Given the description of an element on the screen output the (x, y) to click on. 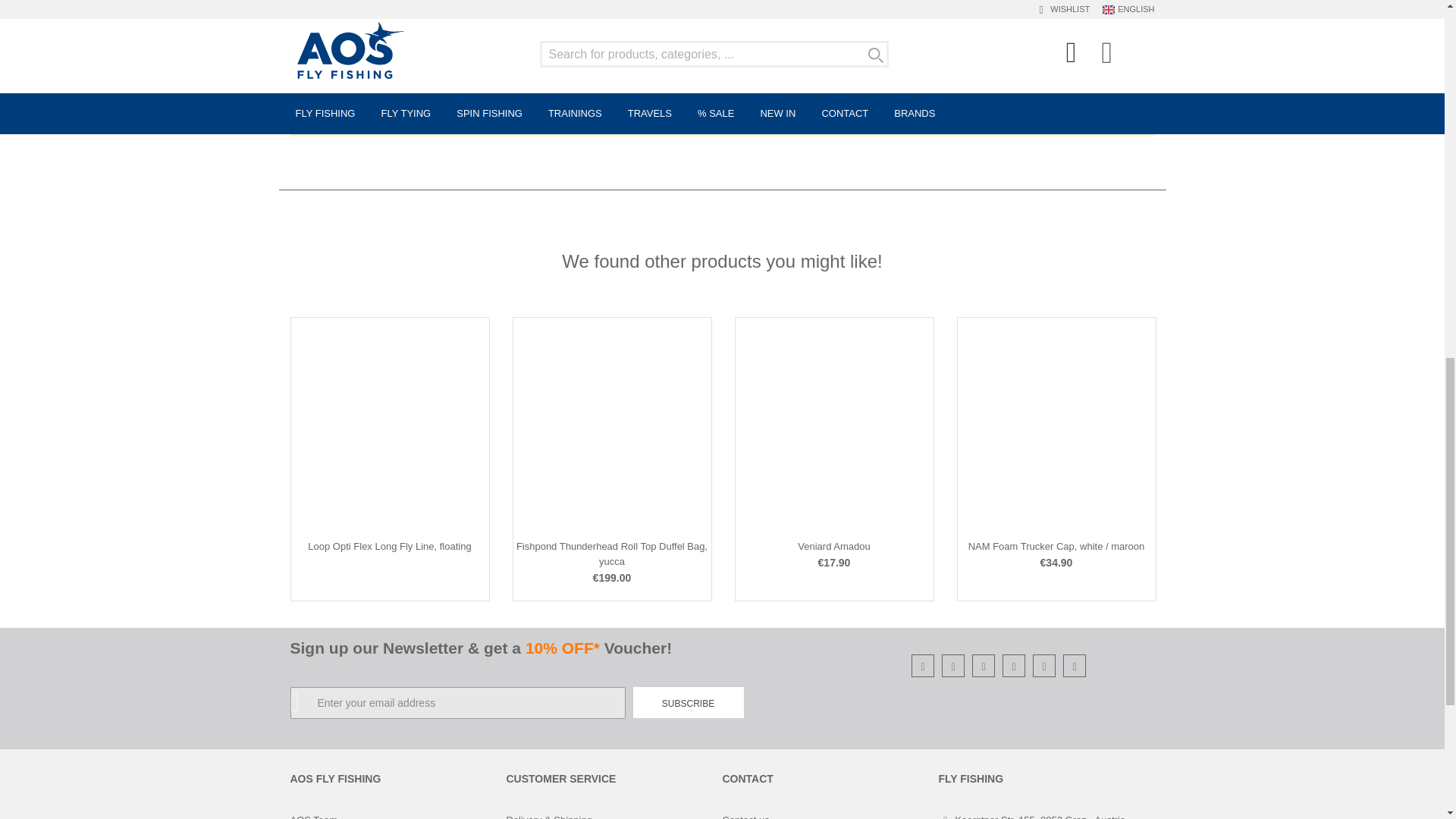
Veniard Amadou (833, 546)
Fishpond Thunderhead Roll Top Duffel Bag, yucca (611, 553)
Loop Opti Flex Long Fly Line, floating (388, 546)
